Given the description of an element on the screen output the (x, y) to click on. 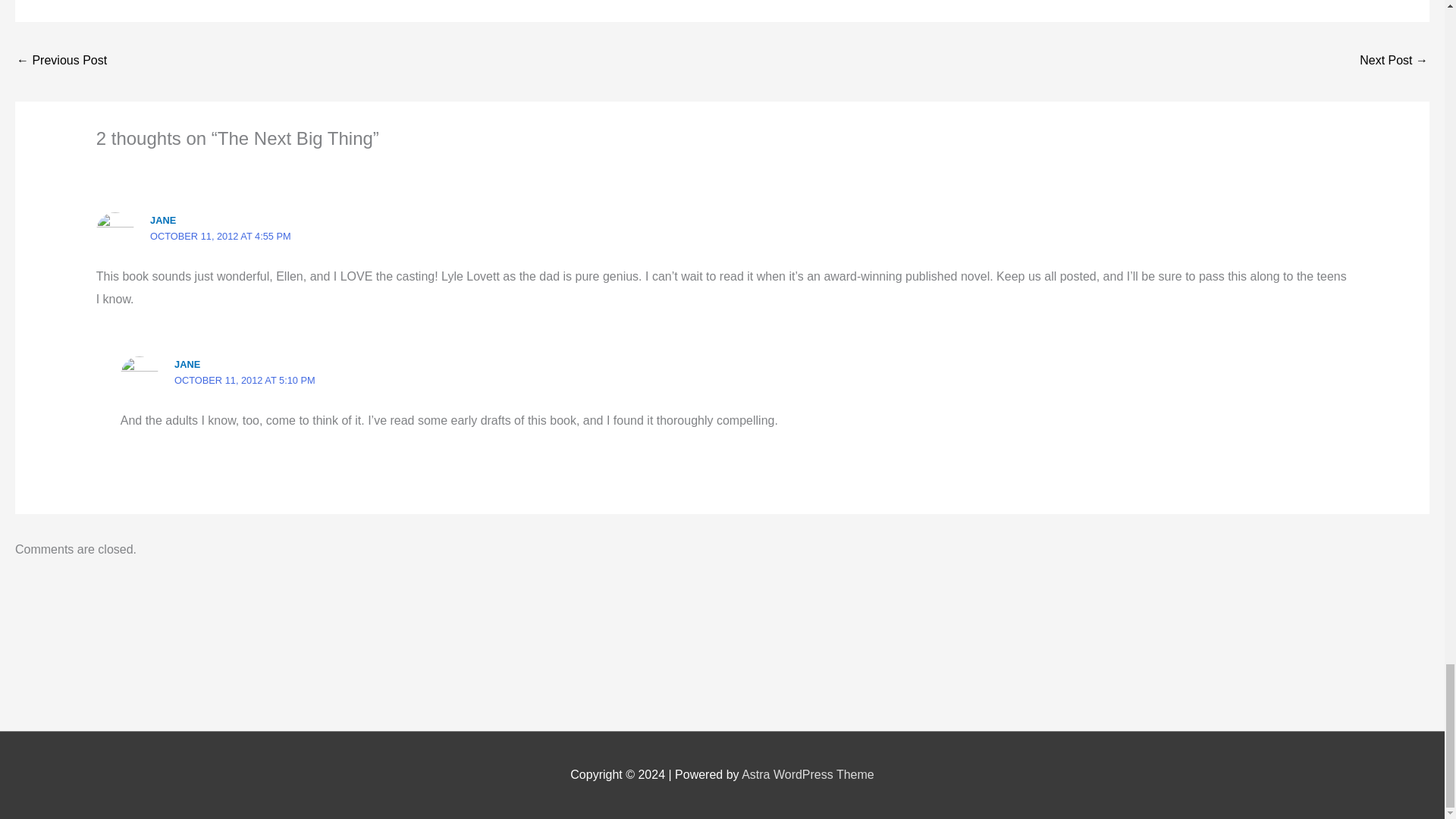
OCTOBER 11, 2012 AT 4:55 PM (220, 235)
"Dreamstorming" (1393, 61)
Astra WordPress Theme (808, 774)
The obstacle is the path (61, 61)
OCTOBER 11, 2012 AT 5:10 PM (244, 379)
